Given the description of an element on the screen output the (x, y) to click on. 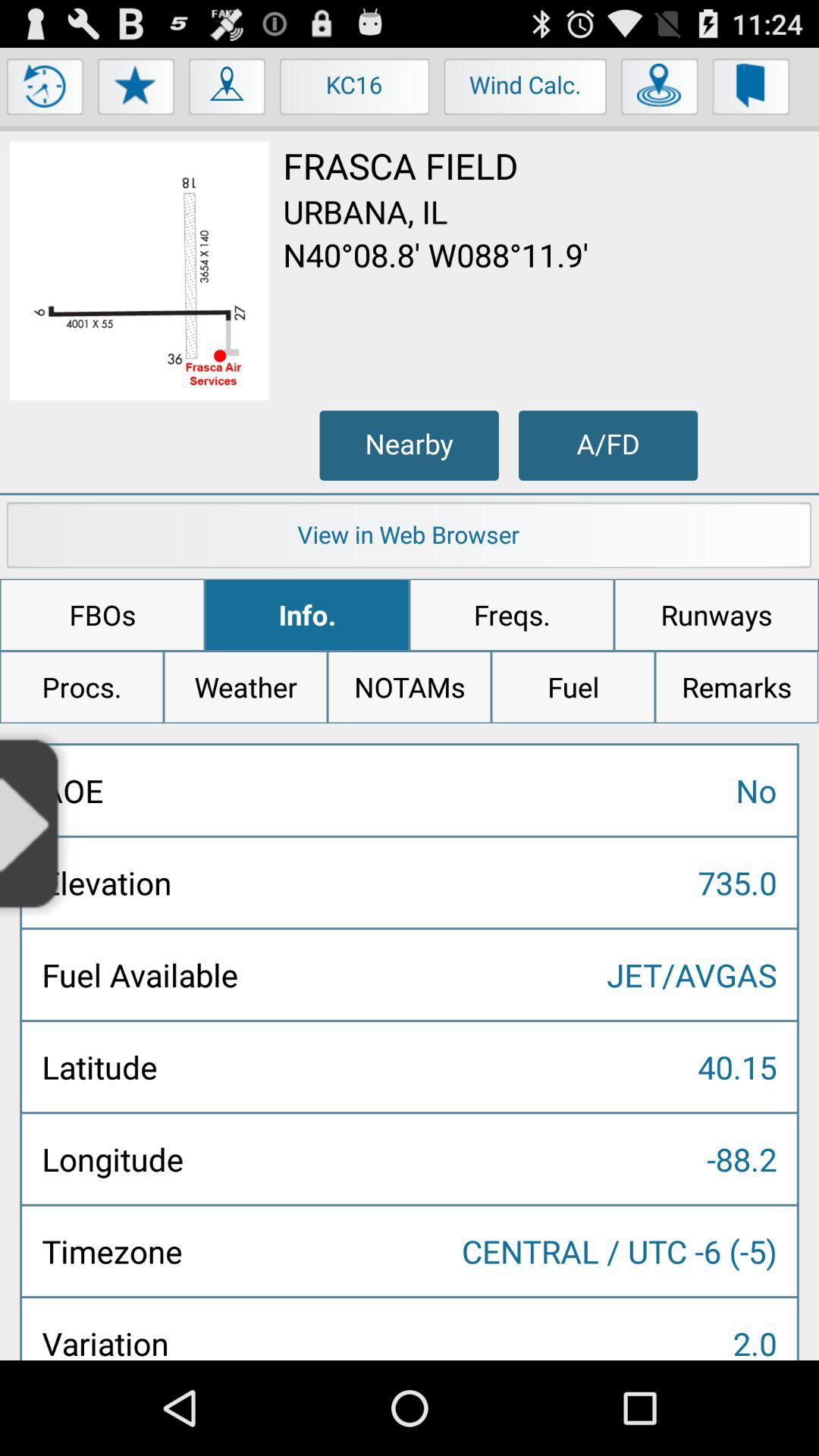
launch icon to the left of frasca field (139, 270)
